Given the description of an element on the screen output the (x, y) to click on. 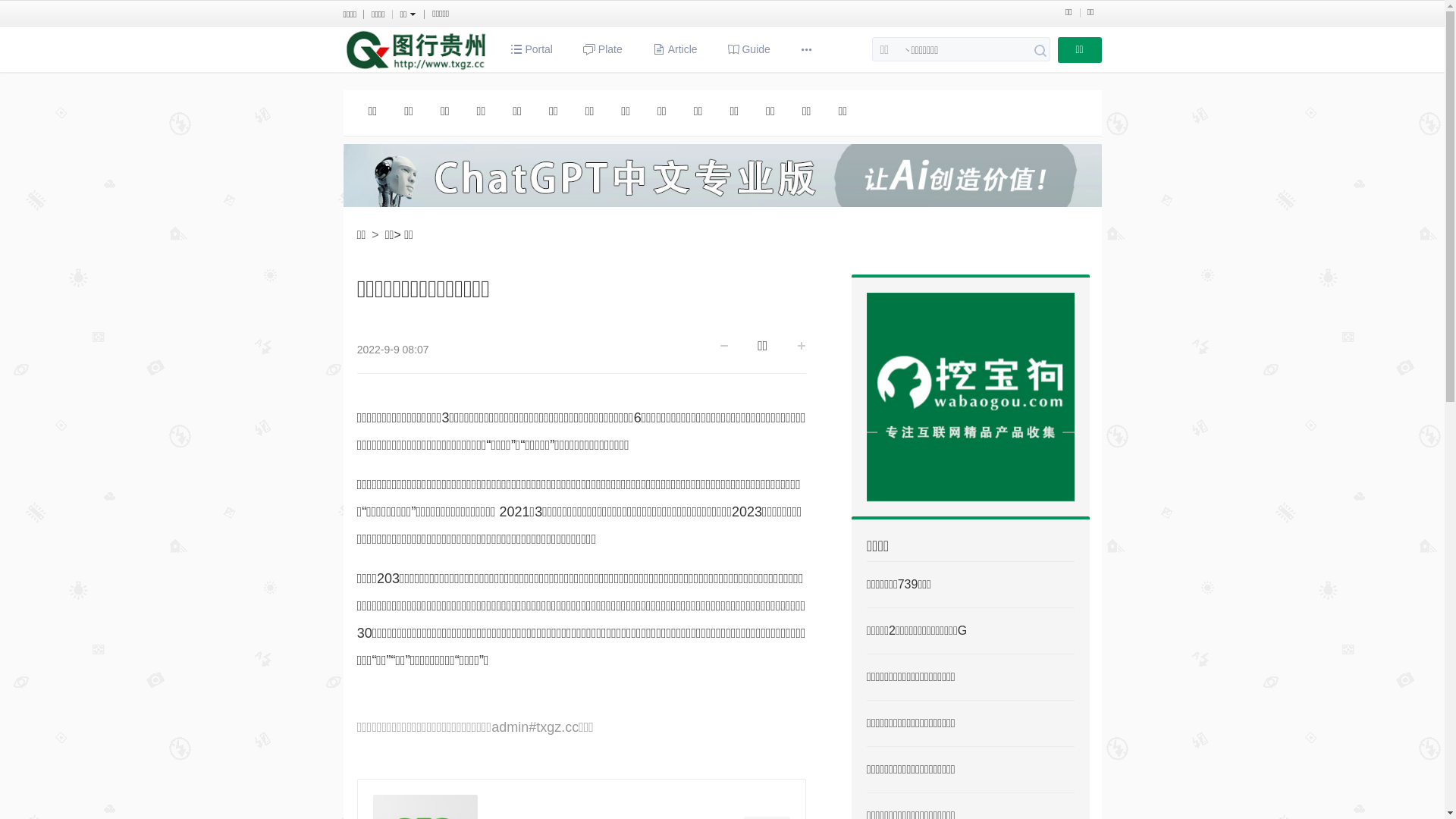
 Portal Element type: text (530, 49)
true Element type: text (1040, 50)
 Guide Element type: text (748, 49)
  Element type: text (808, 49)
 Plate Element type: text (602, 49)
 Article Element type: text (674, 49)
